Given the description of an element on the screen output the (x, y) to click on. 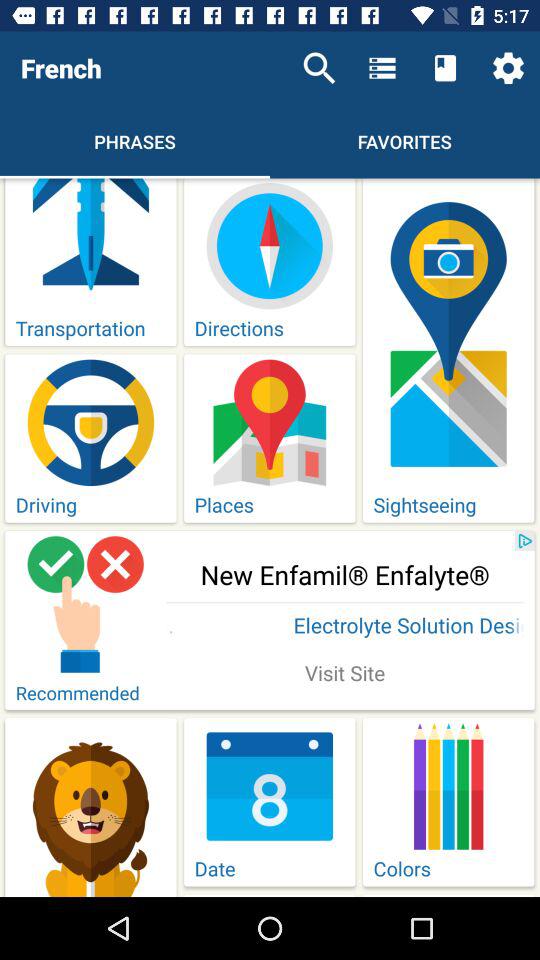
launch icon next to the french (319, 67)
